Given the description of an element on the screen output the (x, y) to click on. 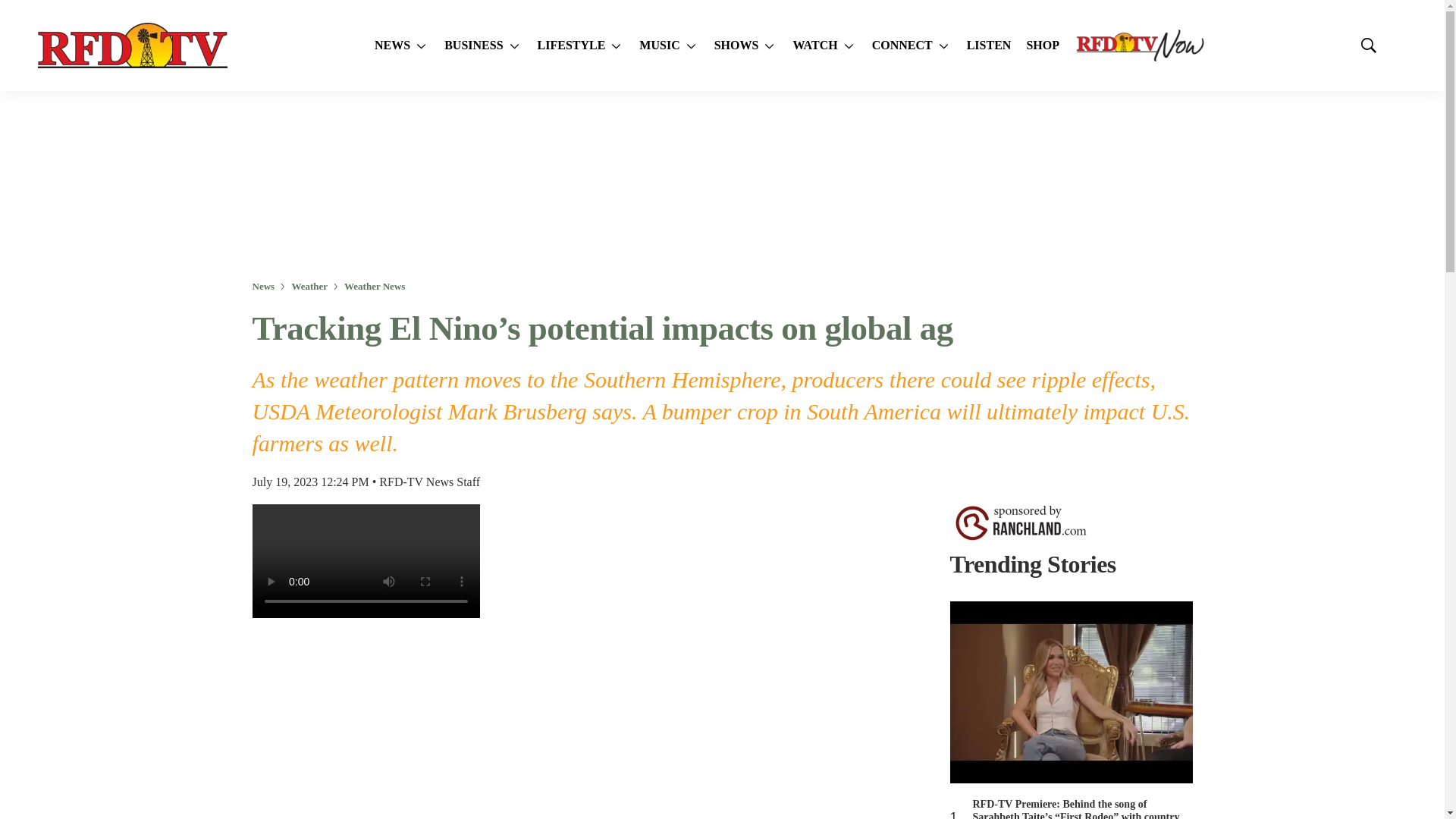
3rd party ad content (721, 185)
